Given the description of an element on the screen output the (x, y) to click on. 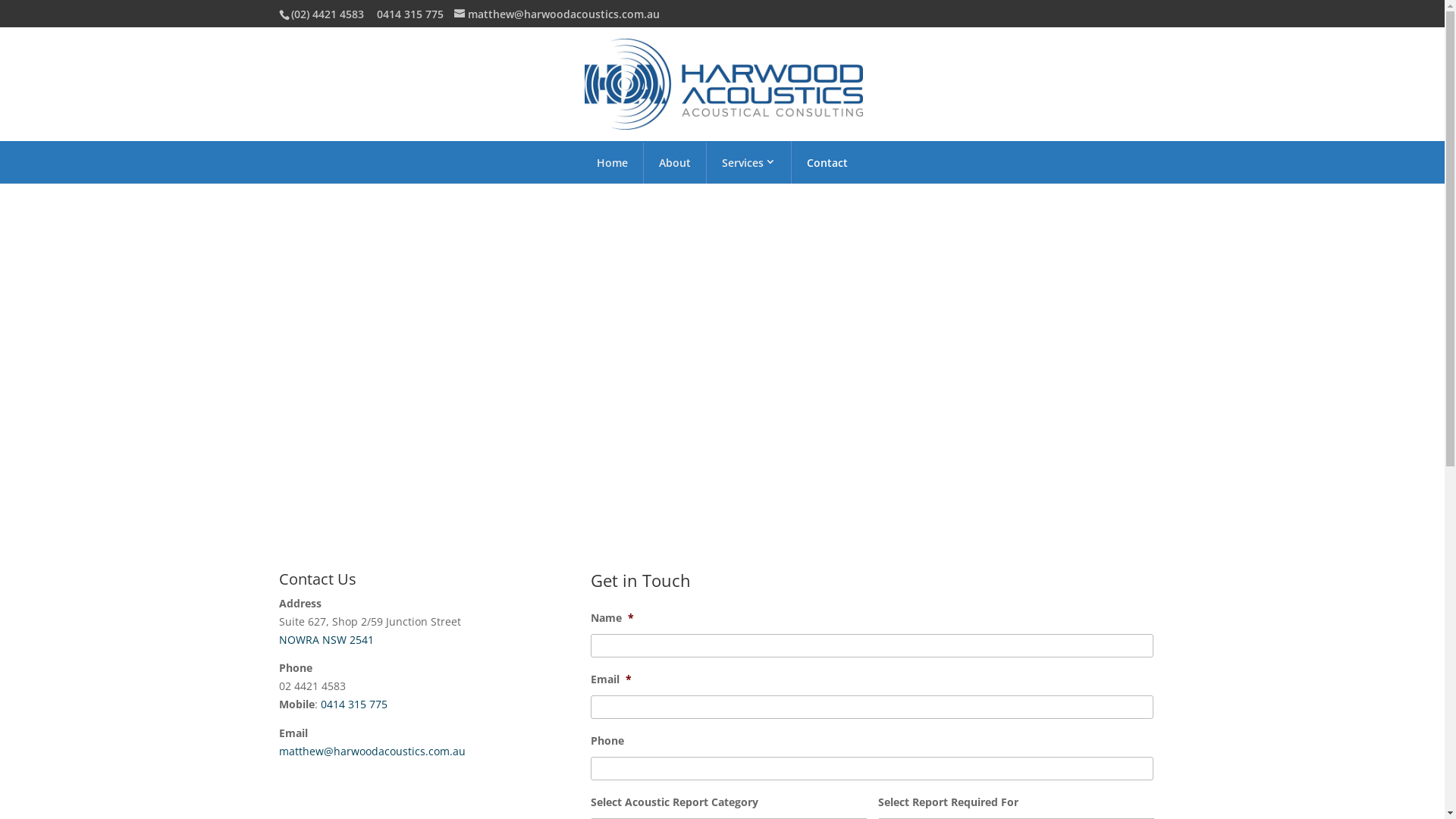
matthew@harwoodacoustics.com.au Element type: text (555, 13)
matthew@harwoodacoustics.com.au Element type: text (372, 750)
0414 315 775 Element type: text (409, 13)
(02) 4421 4583 Element type: text (326, 13)
Home Element type: text (612, 162)
0414 315 775 Element type: text (353, 703)
Services Element type: text (748, 162)
NOWRA NSW 2541 Element type: text (326, 639)
Contact Element type: text (826, 162)
About Element type: text (674, 162)
